Given the description of an element on the screen output the (x, y) to click on. 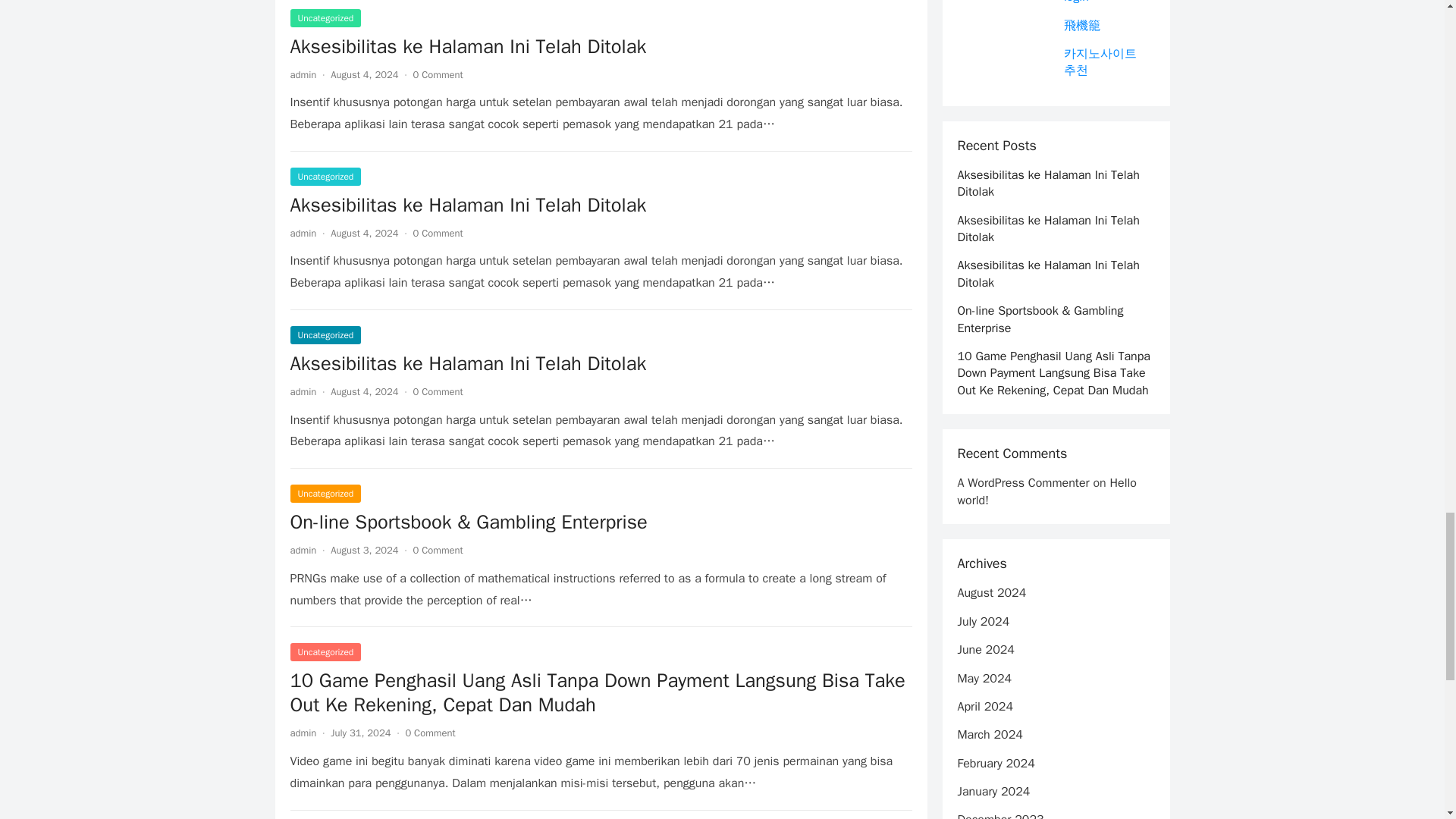
Aksesibilitas ke Halaman Ini Telah Ditolak (600, 205)
0 Comment (438, 232)
admin (302, 74)
admin (302, 232)
Posts by admin (302, 391)
Aksesibilitas ke Halaman Ini Telah Ditolak (600, 46)
0 Comment (438, 74)
Posts by admin (302, 732)
Posts by admin (302, 232)
Posts by admin (302, 549)
Posts by admin (302, 74)
Uncategorized (325, 334)
Uncategorized (325, 18)
Uncategorized (325, 176)
